Given the description of an element on the screen output the (x, y) to click on. 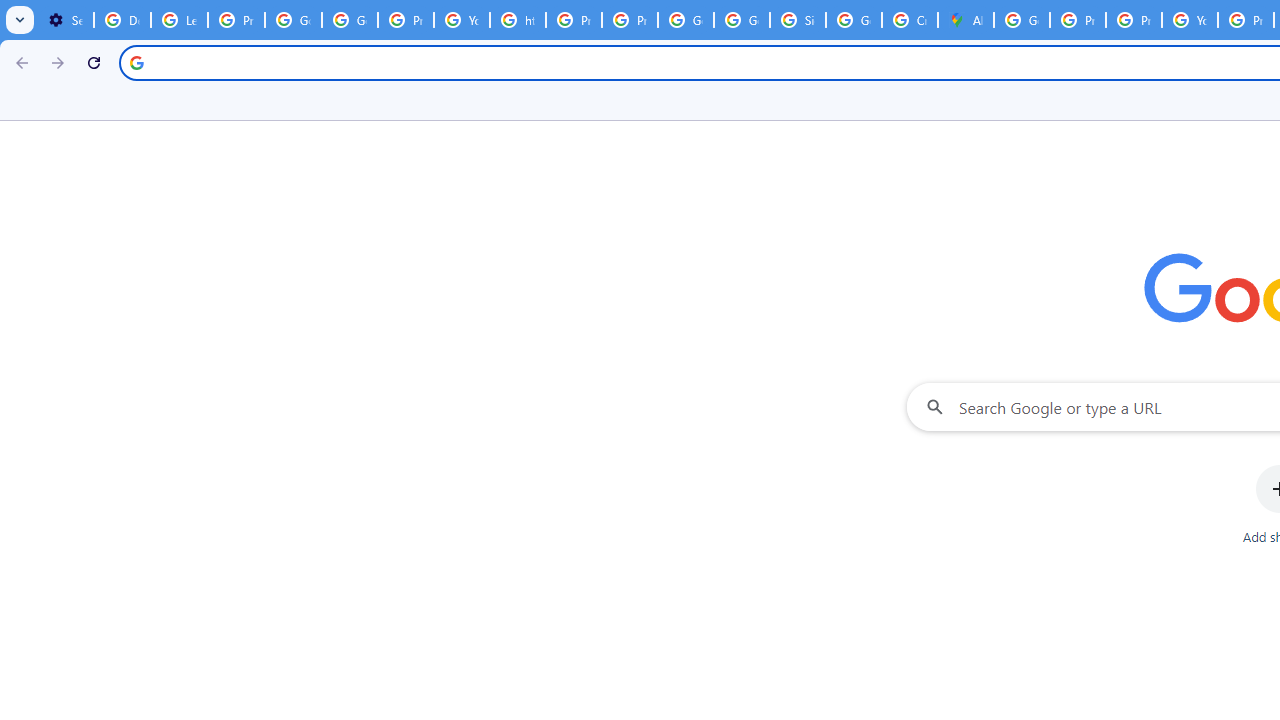
Privacy Help Center - Policies Help (1133, 20)
Privacy Help Center - Policies Help (1077, 20)
Sign in - Google Accounts (797, 20)
Settings - On startup (65, 20)
Privacy Help Center - Policies Help (573, 20)
YouTube (461, 20)
YouTube (1190, 20)
